Given the description of an element on the screen output the (x, y) to click on. 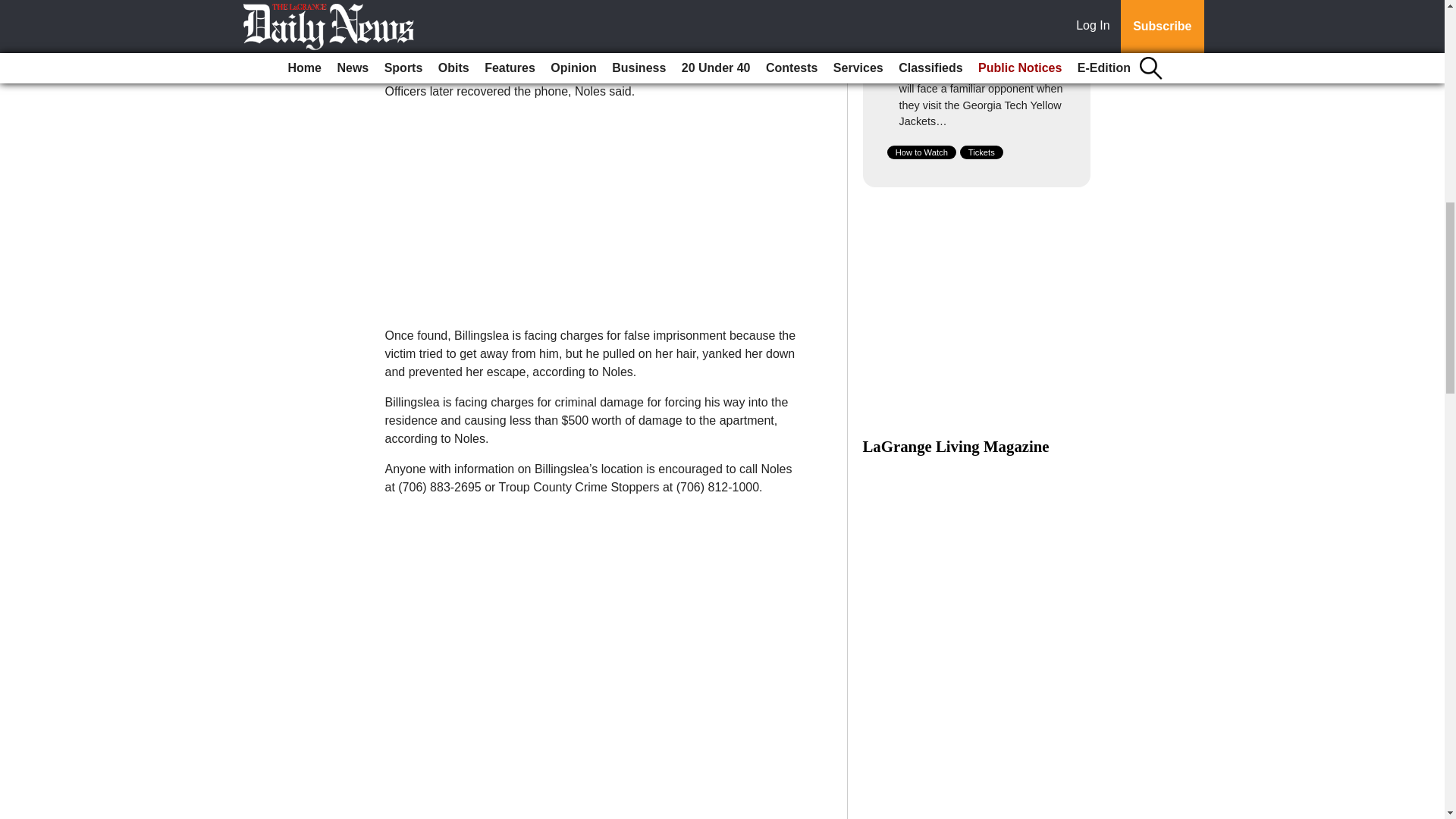
How to Watch (921, 151)
Tickets (981, 151)
